Given the description of an element on the screen output the (x, y) to click on. 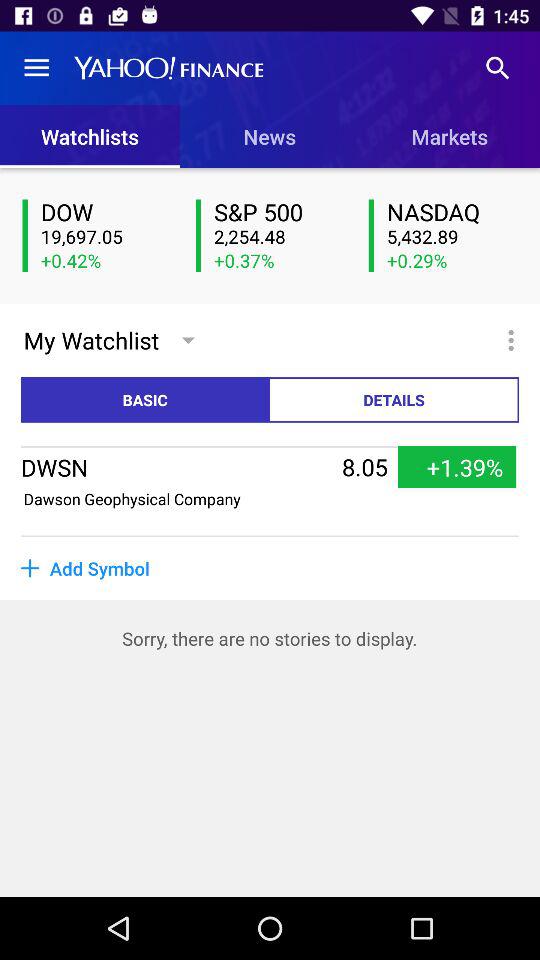
launch the item above +0.29% icon (451, 237)
